Given the description of an element on the screen output the (x, y) to click on. 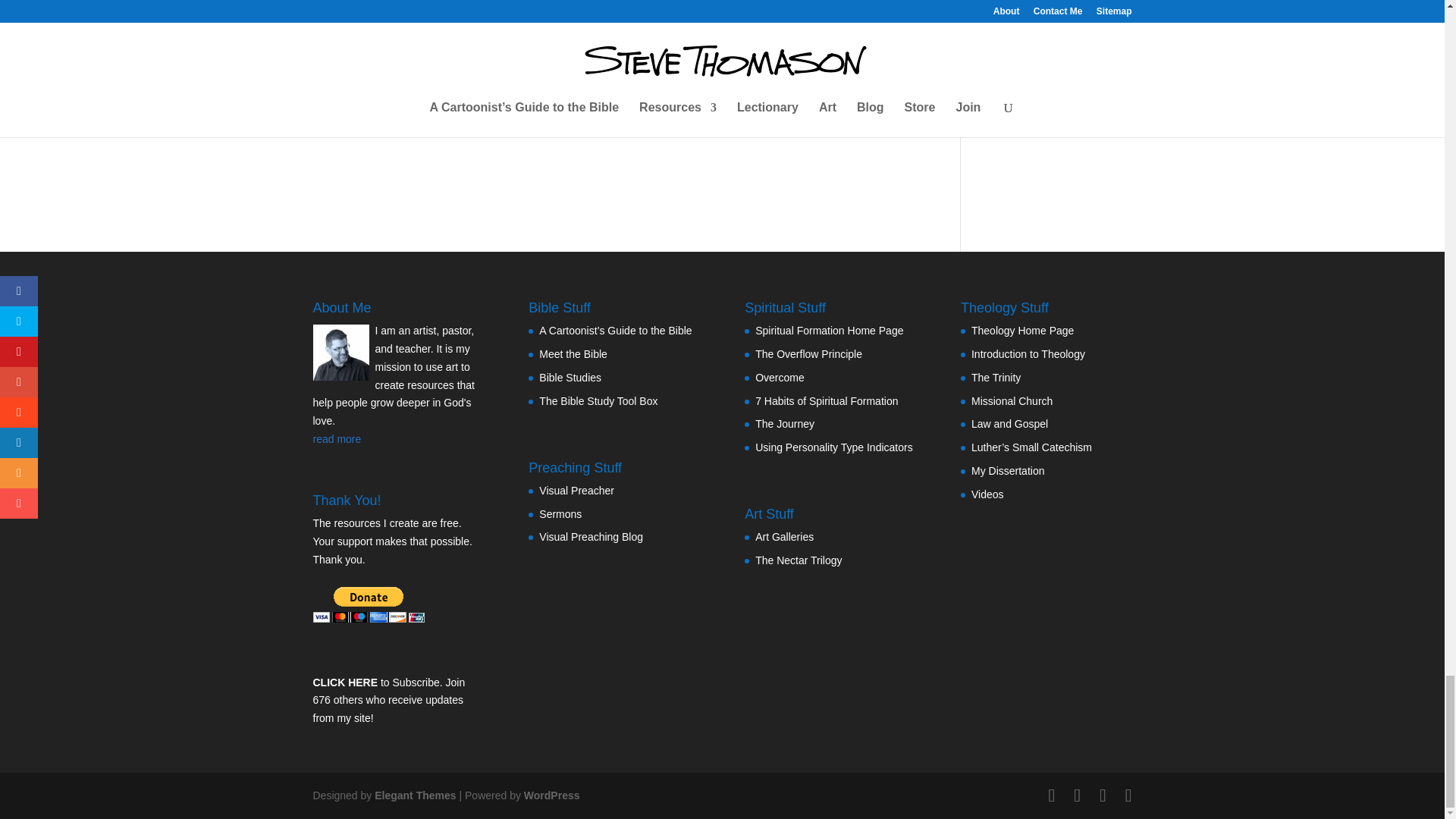
subscribe (319, 40)
PayPal - The safer, easier way to pay online! (368, 604)
Premium WordPress Themes (414, 795)
Submit Comment (840, 98)
